Given the description of an element on the screen output the (x, y) to click on. 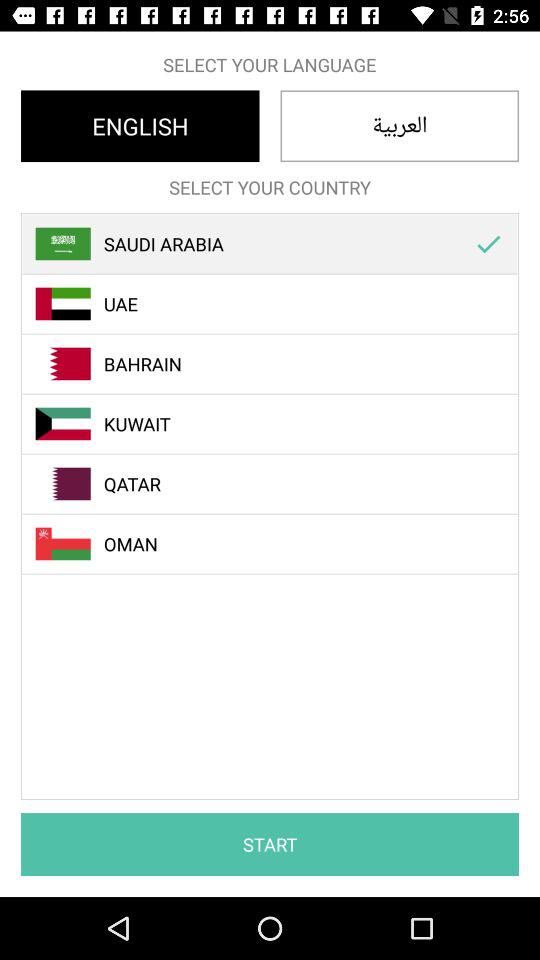
flip until saudi arabia icon (281, 243)
